Given the description of an element on the screen output the (x, y) to click on. 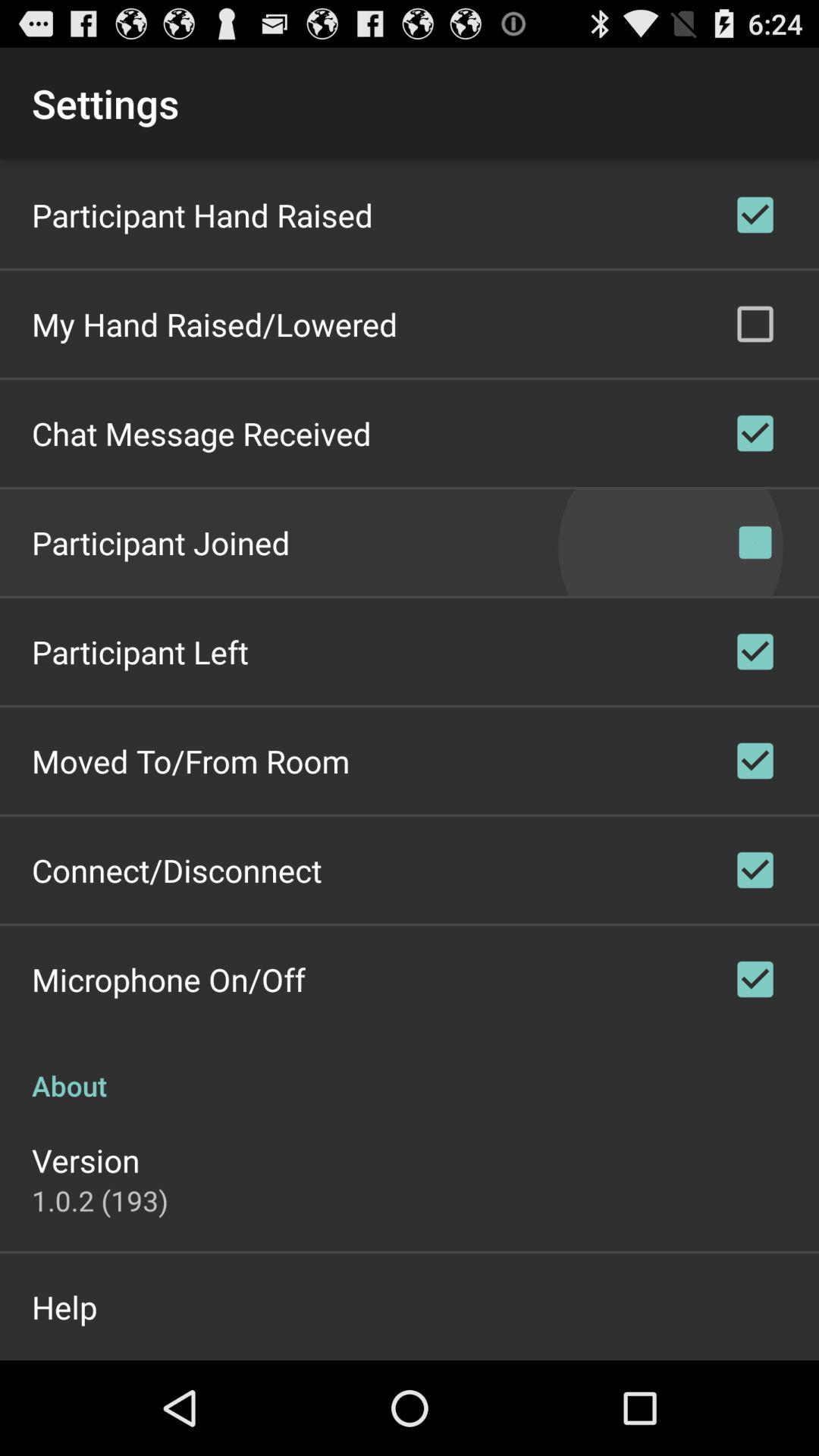
tap app below about icon (85, 1159)
